Given the description of an element on the screen output the (x, y) to click on. 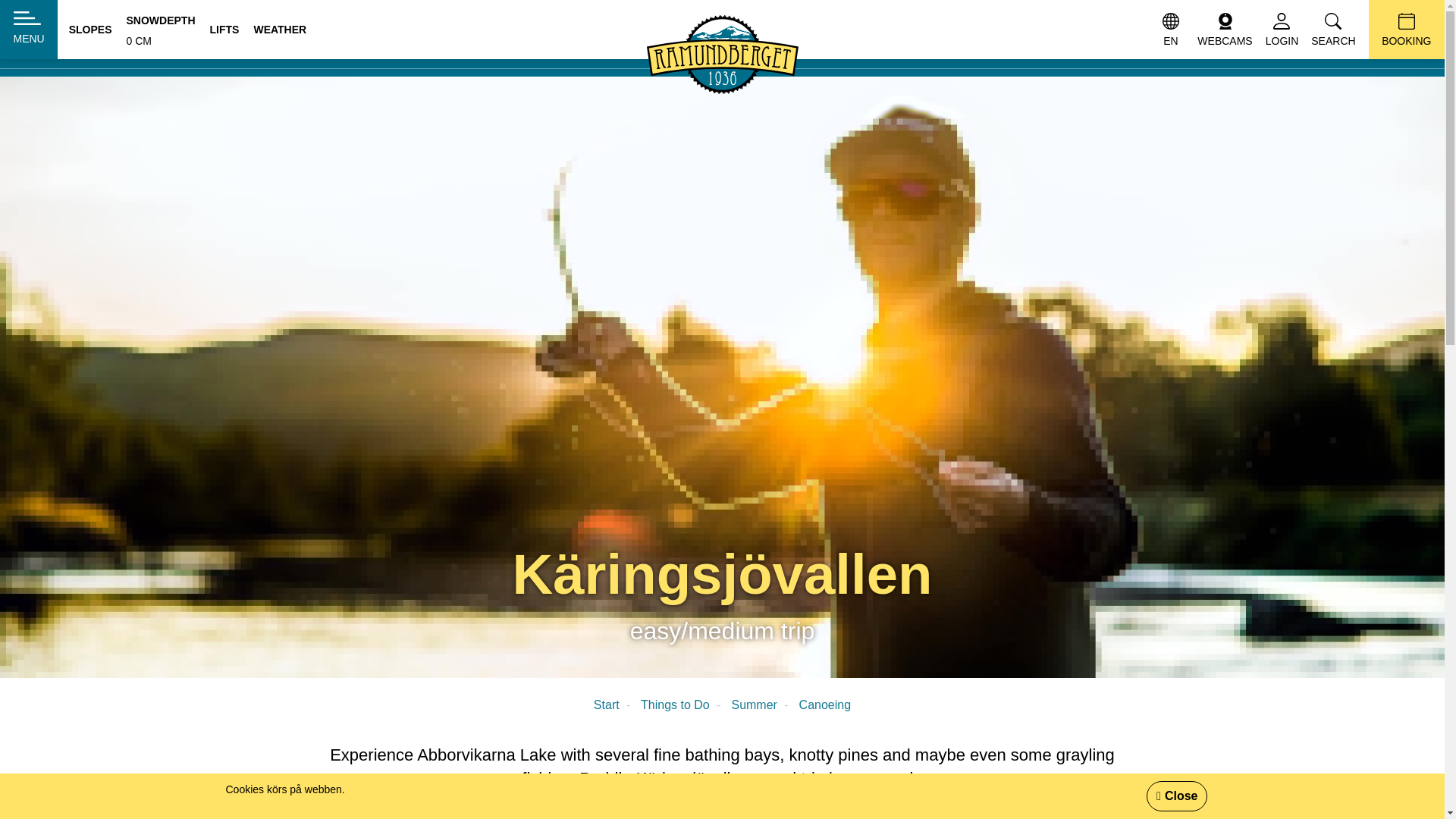
WEBCAMS (160, 29)
Things to Do (1224, 29)
Webcams (675, 704)
Login (1224, 29)
Canoeing (51, 33)
Start (825, 704)
Summer (607, 704)
MENU (753, 704)
Booking (29, 29)
